Given the description of an element on the screen output the (x, y) to click on. 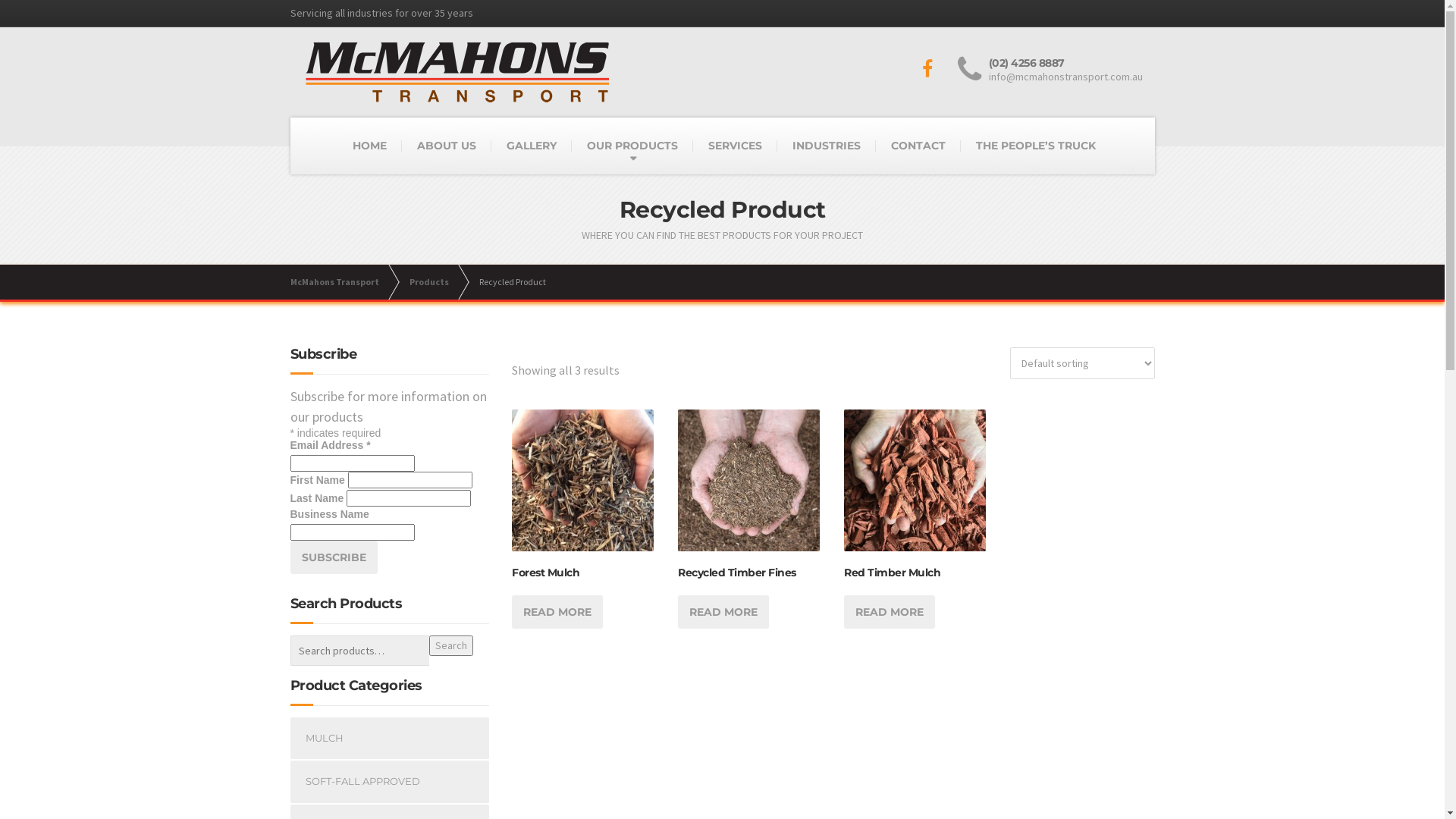
Forest Mulch Element type: text (582, 513)
Subscribe Element type: text (332, 557)
SOFT-FALL APPROVED Element type: text (389, 781)
(02) 4256 8887
info@mcmahonstransport.com.au Element type: text (1055, 69)
ABOUT US Element type: text (446, 145)
READ MORE Element type: text (722, 611)
SERVICES Element type: text (735, 145)
Products Element type: text (436, 281)
McMahons Transport Element type: text (341, 281)
Recycled Timber Fines Element type: text (748, 513)
CONTACT Element type: text (917, 145)
GALLERY Element type: text (531, 145)
Red Timber Mulch Element type: text (914, 513)
MULCH Element type: text (389, 738)
READ MORE Element type: text (556, 611)
Search Element type: text (451, 645)
READ MORE Element type: text (889, 611)
OUR PRODUCTS Element type: text (632, 145)
INDUSTRIES Element type: text (825, 145)
HOME Element type: text (368, 145)
